Given the description of an element on the screen output the (x, y) to click on. 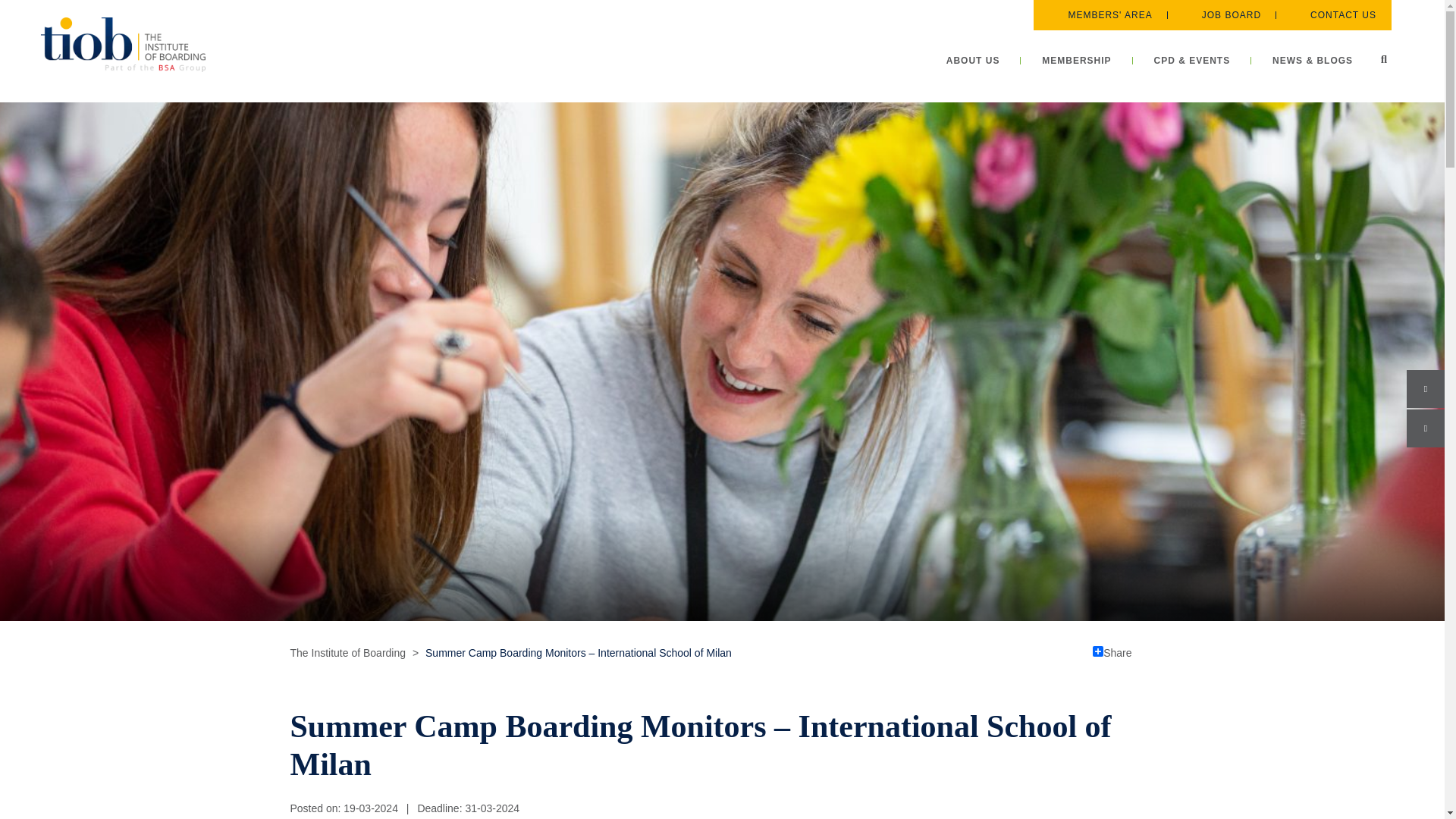
JOB BOARD (1221, 15)
ABOUT US (973, 60)
MEMBERSHIP (1076, 60)
CONTACT US (1333, 15)
MEMBERS' AREA (1099, 15)
Go to The Institute of Boarding. (347, 653)
